Given the description of an element on the screen output the (x, y) to click on. 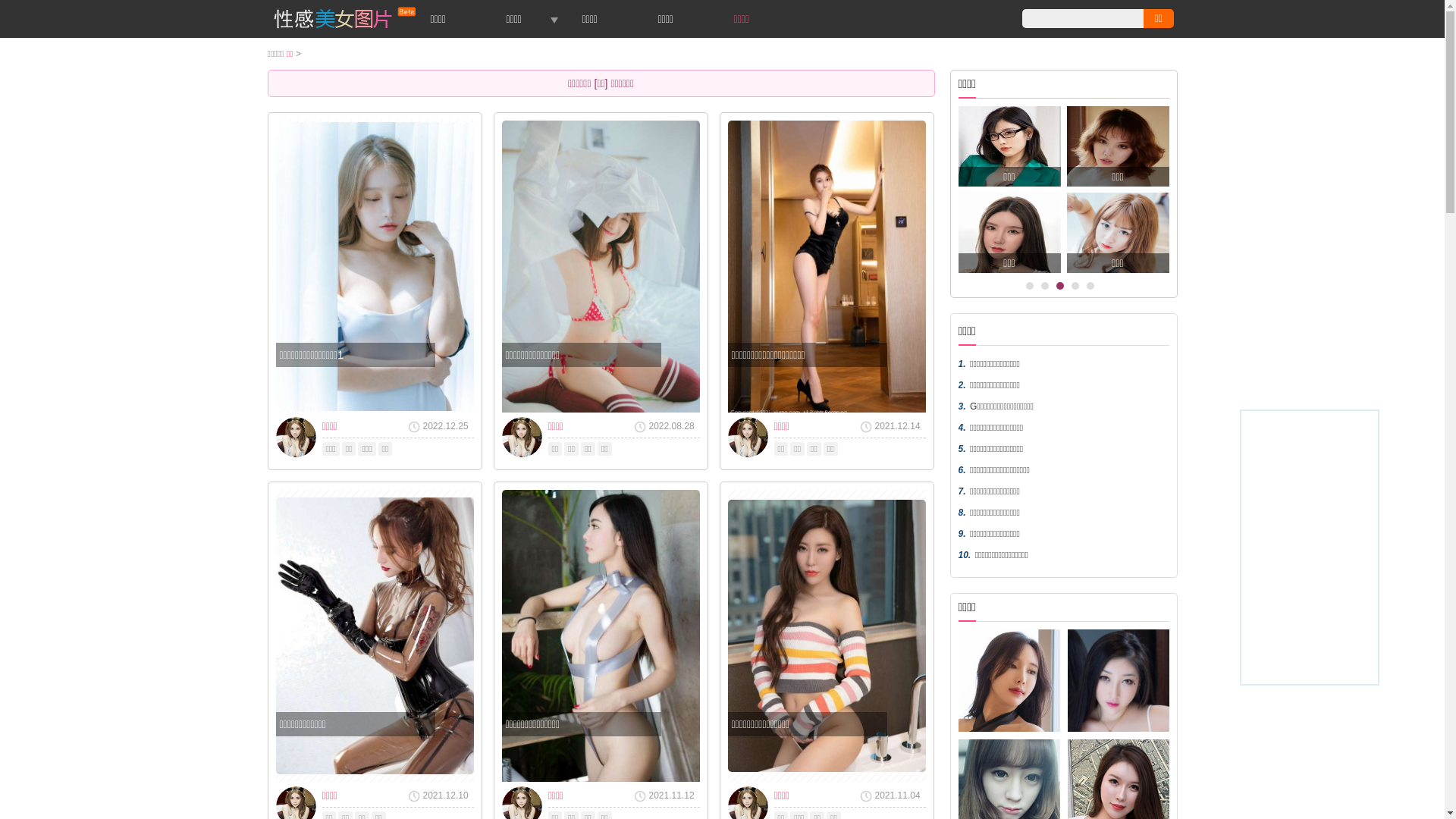
4 Element type: text (1074, 285)
1 Element type: text (1028, 285)
2 Element type: text (1044, 285)
3 Element type: text (1059, 285)
5 Element type: text (1089, 285)
